Given the description of an element on the screen output the (x, y) to click on. 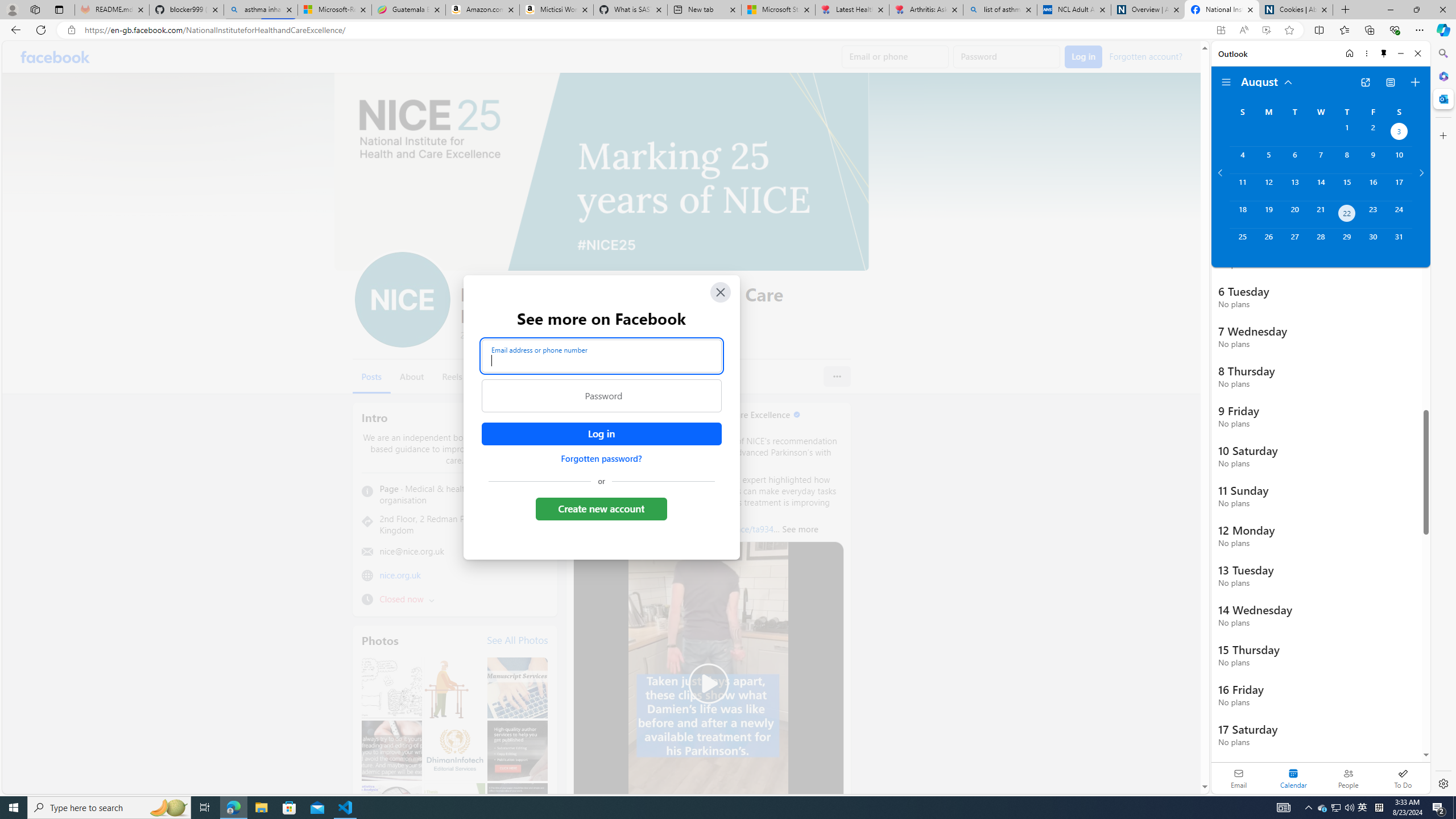
Create new account (601, 508)
Tuesday, August 20, 2024.  (1294, 214)
Forgotten account? (1145, 55)
